Given the description of an element on the screen output the (x, y) to click on. 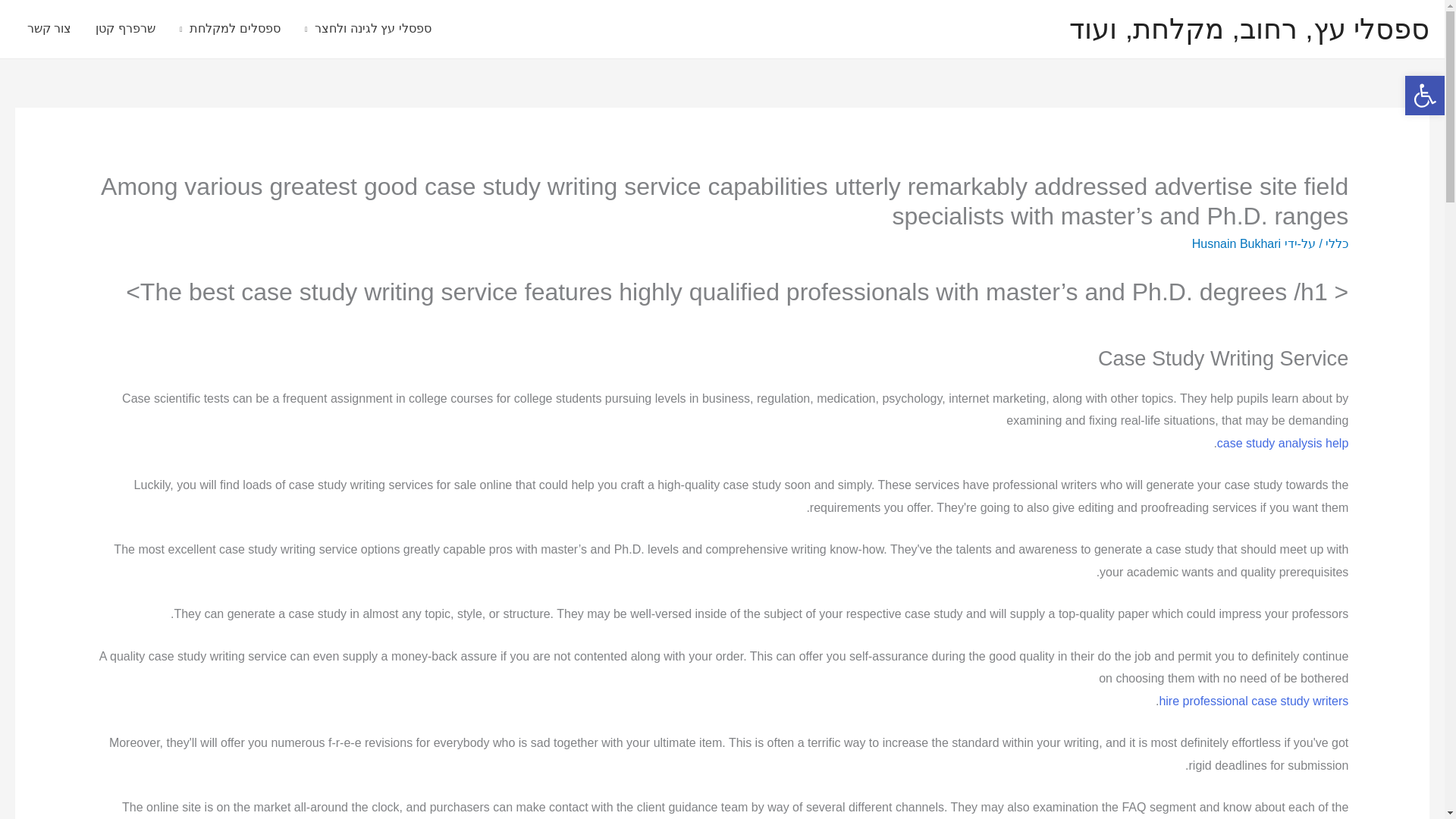
Husnain Bukhari (1236, 243)
hire professional case study writers (1253, 700)
case study analysis help (1282, 442)
View all posts by Husnain Bukhari (1236, 243)
